Given the description of an element on the screen output the (x, y) to click on. 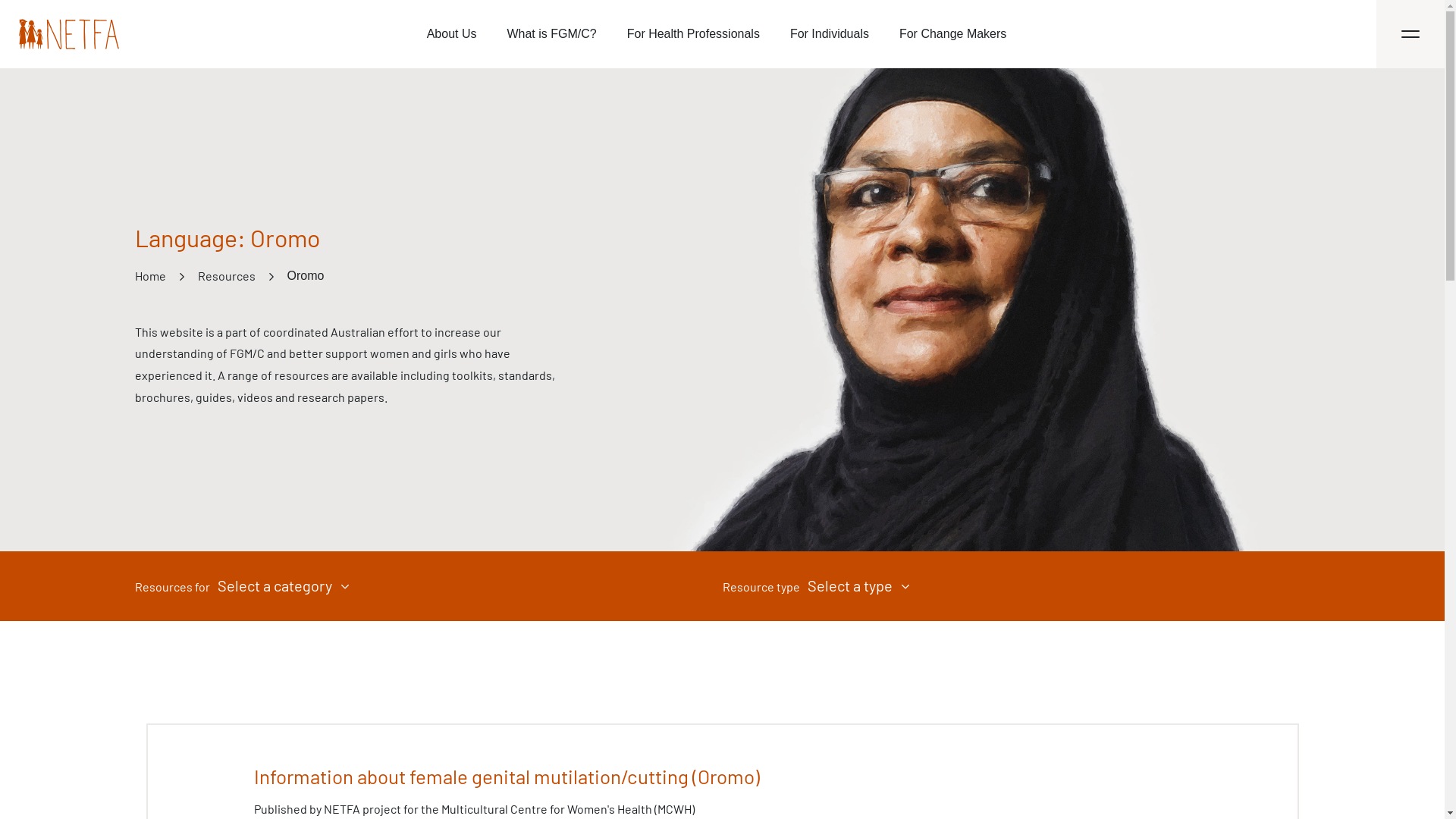
For Change Makers Element type: text (952, 34)
About Us Element type: text (451, 34)
What is FGM/C? Element type: text (551, 34)
Resources Element type: text (225, 276)
For Health Professionals Element type: text (693, 34)
Open Menu Element type: text (1410, 34)
Home Element type: text (150, 276)
key2start Element type: text (69, 34)
For Individuals Element type: text (829, 34)
